Given the description of an element on the screen output the (x, y) to click on. 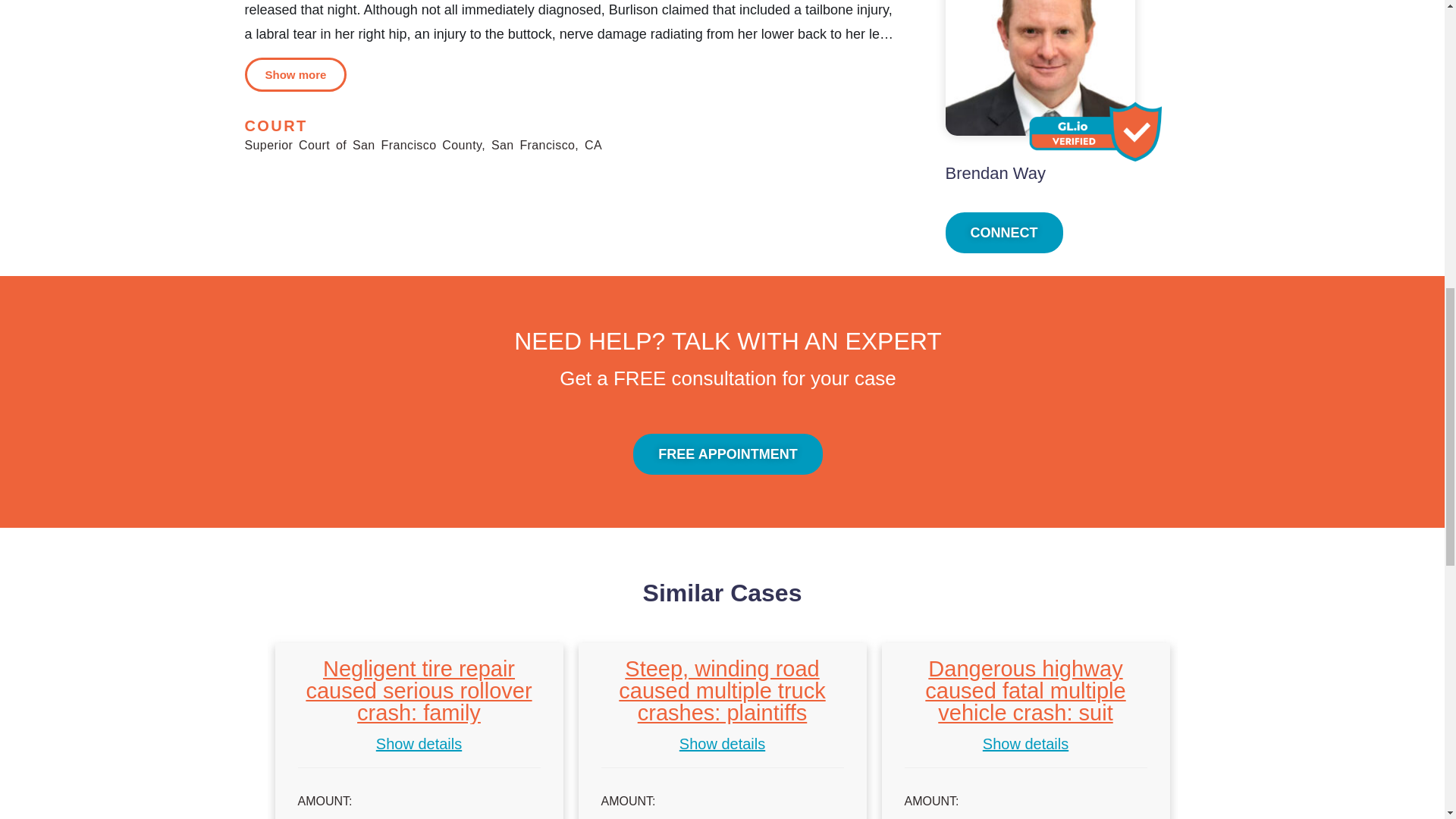
CONNECT (1003, 232)
Show more (295, 74)
FREE APPOINTMENT (727, 454)
Brendan Way (994, 172)
